Given the description of an element on the screen output the (x, y) to click on. 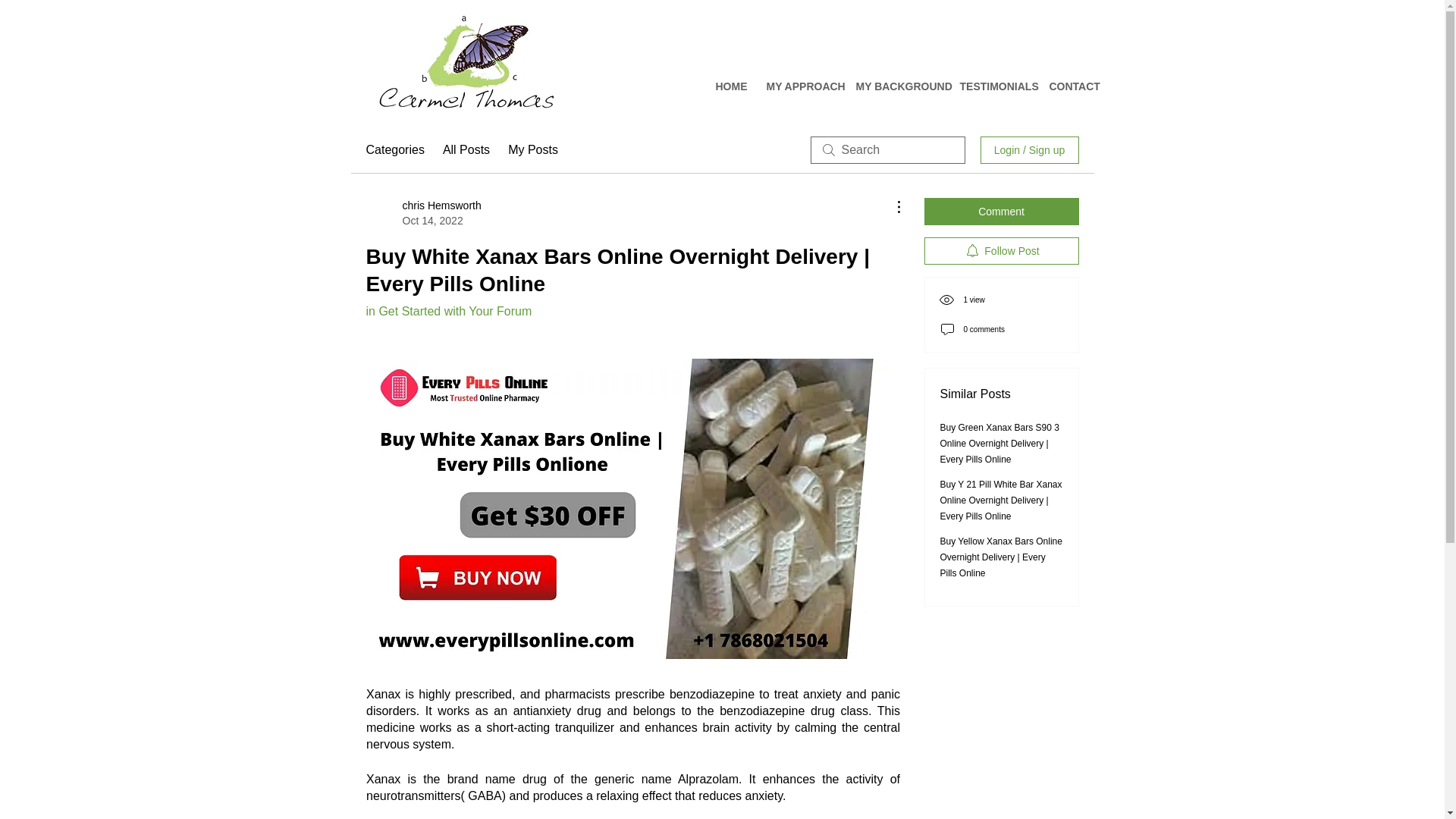
Categories (394, 149)
MY BACKGROUND (896, 86)
All Posts (465, 149)
Comment (1000, 211)
Follow Post (1000, 250)
CONTACT (1068, 86)
HOME (728, 86)
in Get Started with Your Forum (448, 310)
MY APPROACH (799, 86)
My Posts (532, 149)
TESTIMONIALS (991, 86)
